Given the description of an element on the screen output the (x, y) to click on. 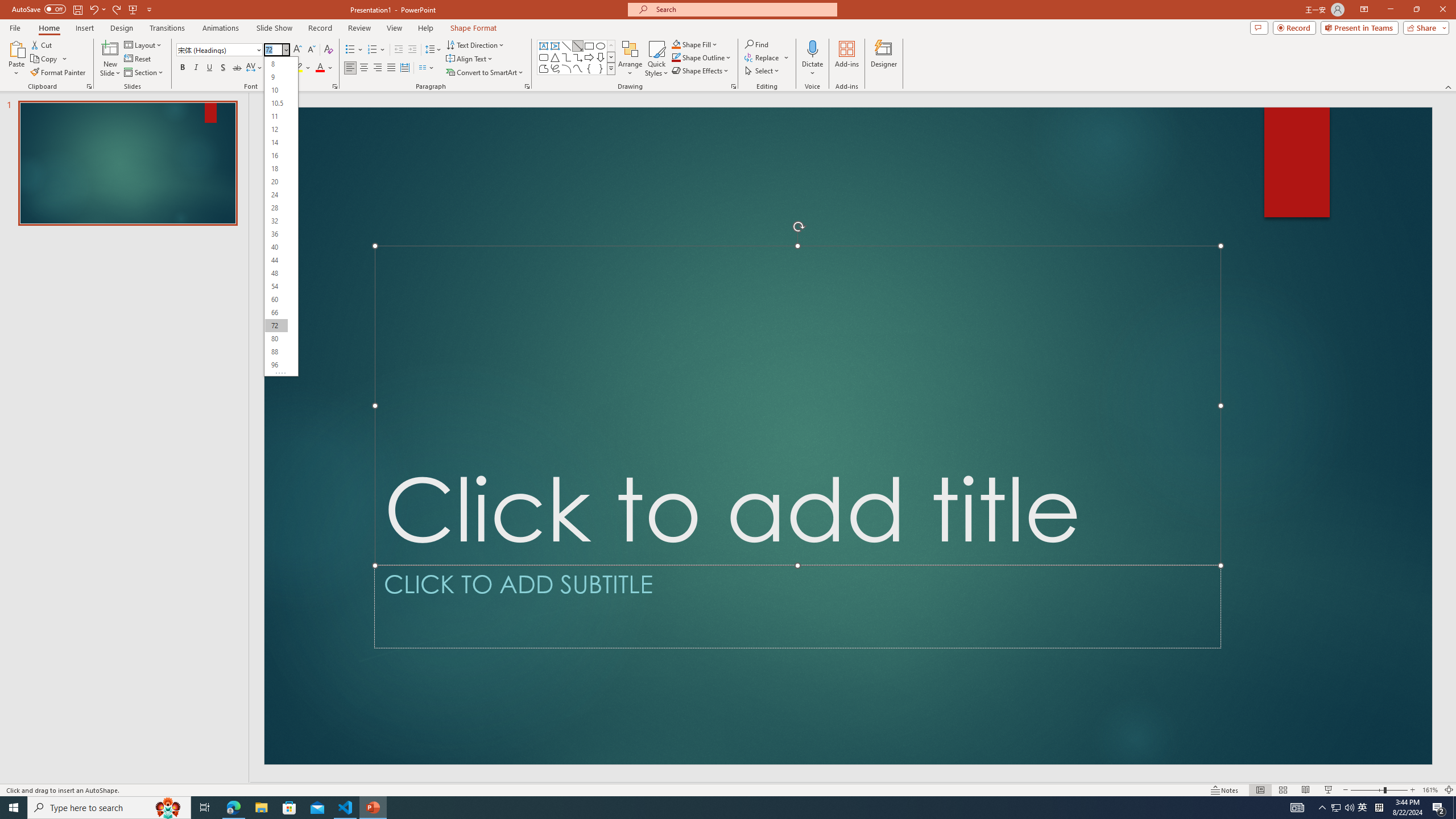
44 (276, 259)
36 (276, 233)
10.5 (276, 102)
